Given the description of an element on the screen output the (x, y) to click on. 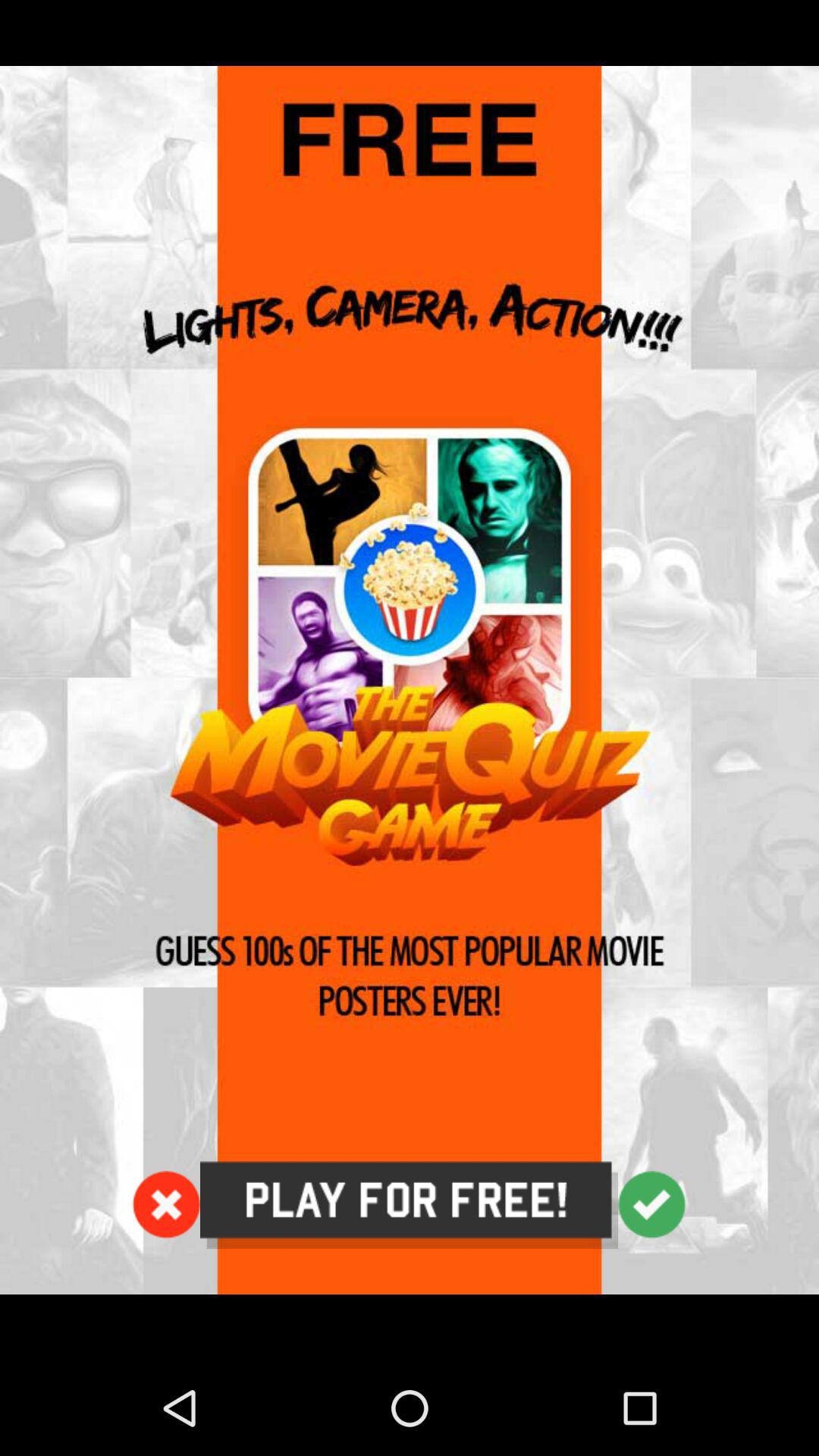
launch icon at the bottom left corner (166, 1204)
